Given the description of an element on the screen output the (x, y) to click on. 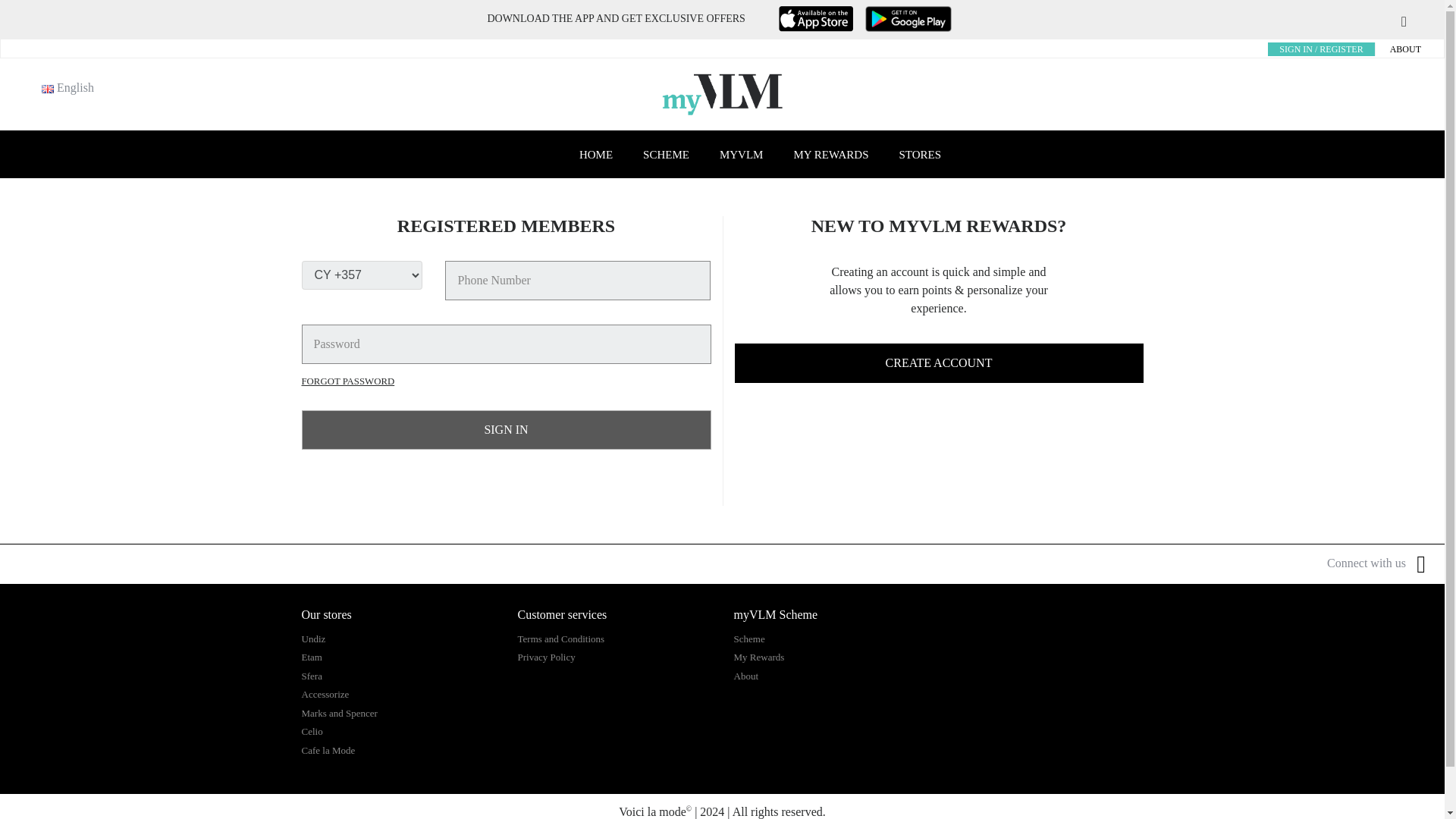
Privacy Policy (545, 656)
Undiz (313, 638)
Etam (311, 656)
Terms and Conditions (560, 638)
English (47, 89)
Celio (312, 731)
MY REWARDS (830, 155)
Cafe la Mode (328, 749)
HOME (595, 155)
Sign In (506, 429)
